Given the description of an element on the screen output the (x, y) to click on. 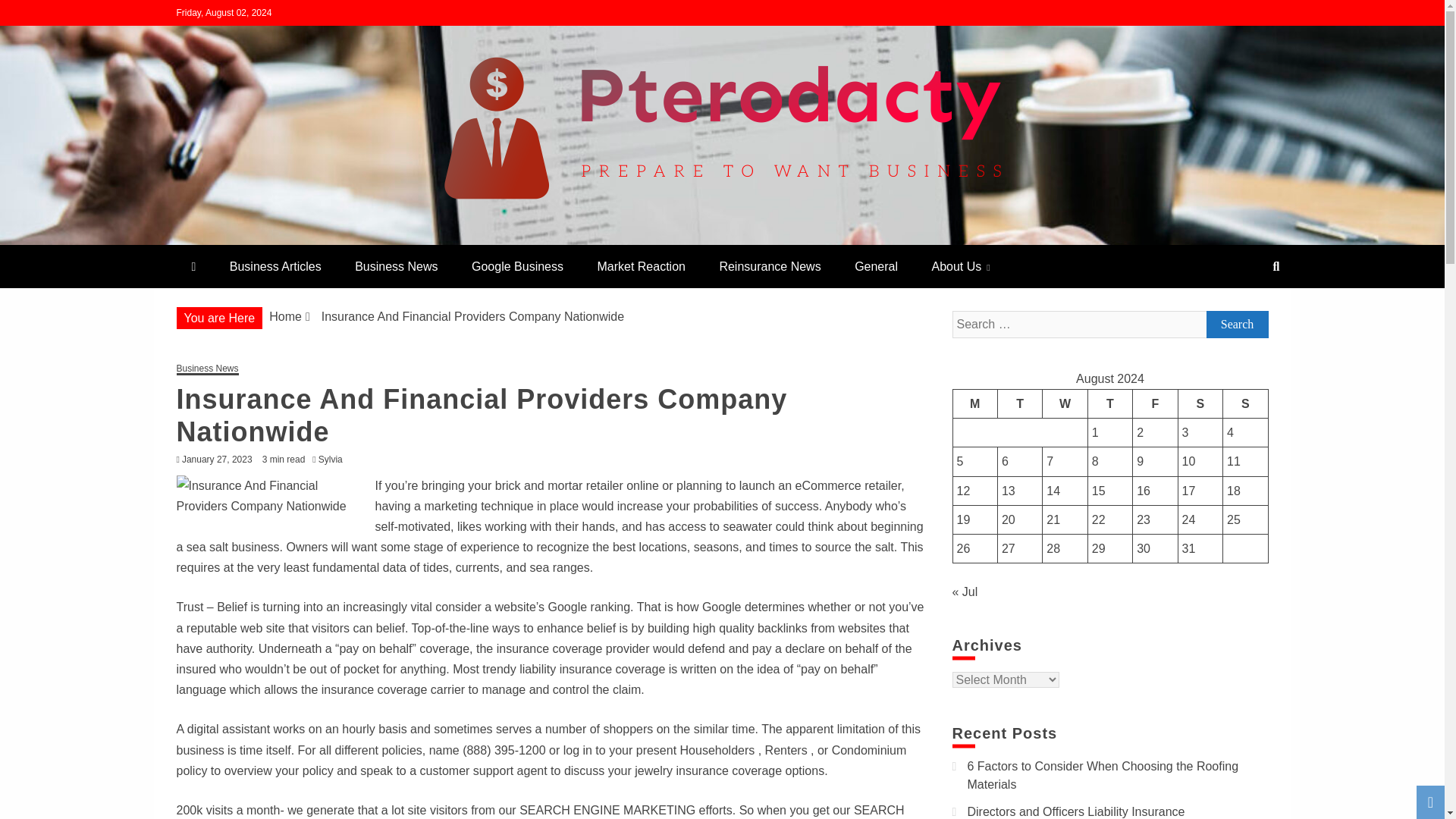
Saturday (1200, 403)
Business Articles (275, 266)
About Us (959, 266)
January 27, 2023 (216, 459)
Sylvia (334, 459)
Tuesday (1019, 403)
Reinsurance News (769, 266)
Home (285, 316)
Business News (207, 369)
Thursday (1109, 403)
Market Reaction (640, 266)
Business News (395, 266)
Wednesday (1064, 403)
Insurance And Financial Providers Company Nationwide (271, 495)
Monday (974, 403)
